Given the description of an element on the screen output the (x, y) to click on. 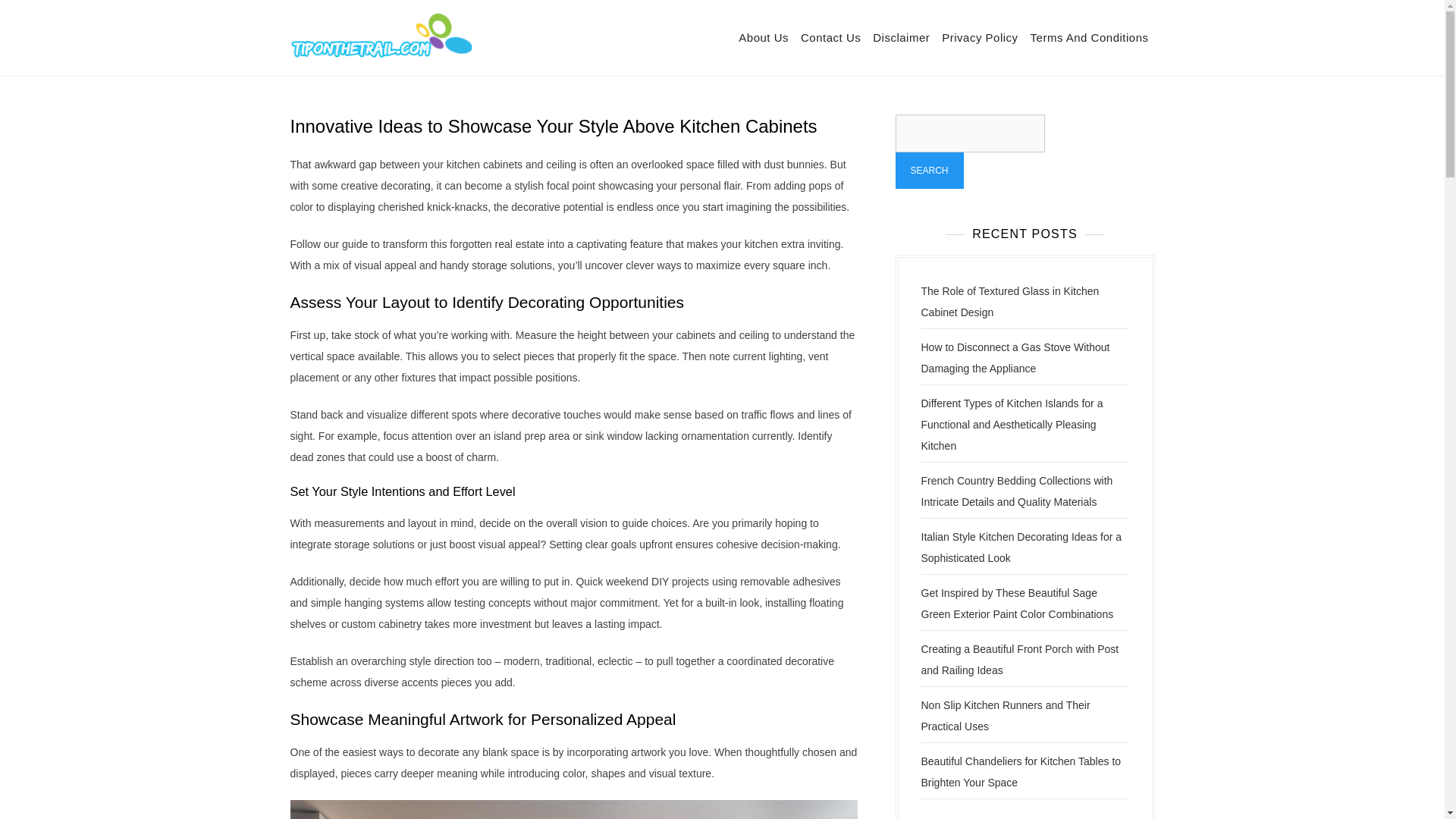
Creating a Beautiful Front Porch with Post and Railing Ideas (1019, 659)
About Us (763, 37)
Tiponthetrail.com (558, 47)
Contact Us (830, 37)
Disclaimer (901, 37)
SEARCH (928, 170)
Non Slip Kitchen Runners and Their Practical Uses (1004, 715)
Privacy Policy (979, 37)
Terms And Conditions (1089, 37)
The Role of Textured Glass in Kitchen Cabinet Design (1009, 301)
